Given the description of an element on the screen output the (x, y) to click on. 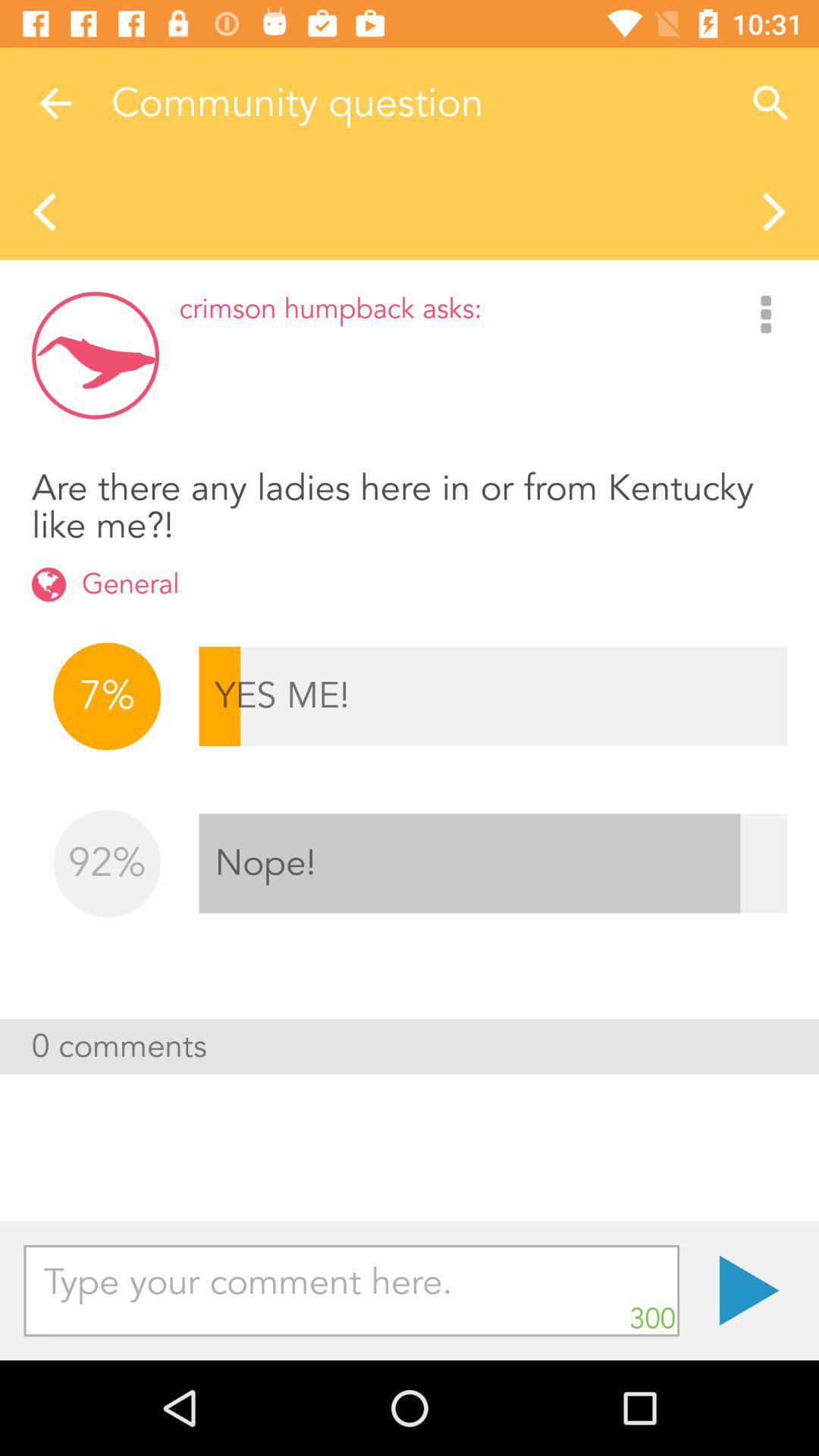
type comment in this box (351, 1290)
